Given the description of an element on the screen output the (x, y) to click on. 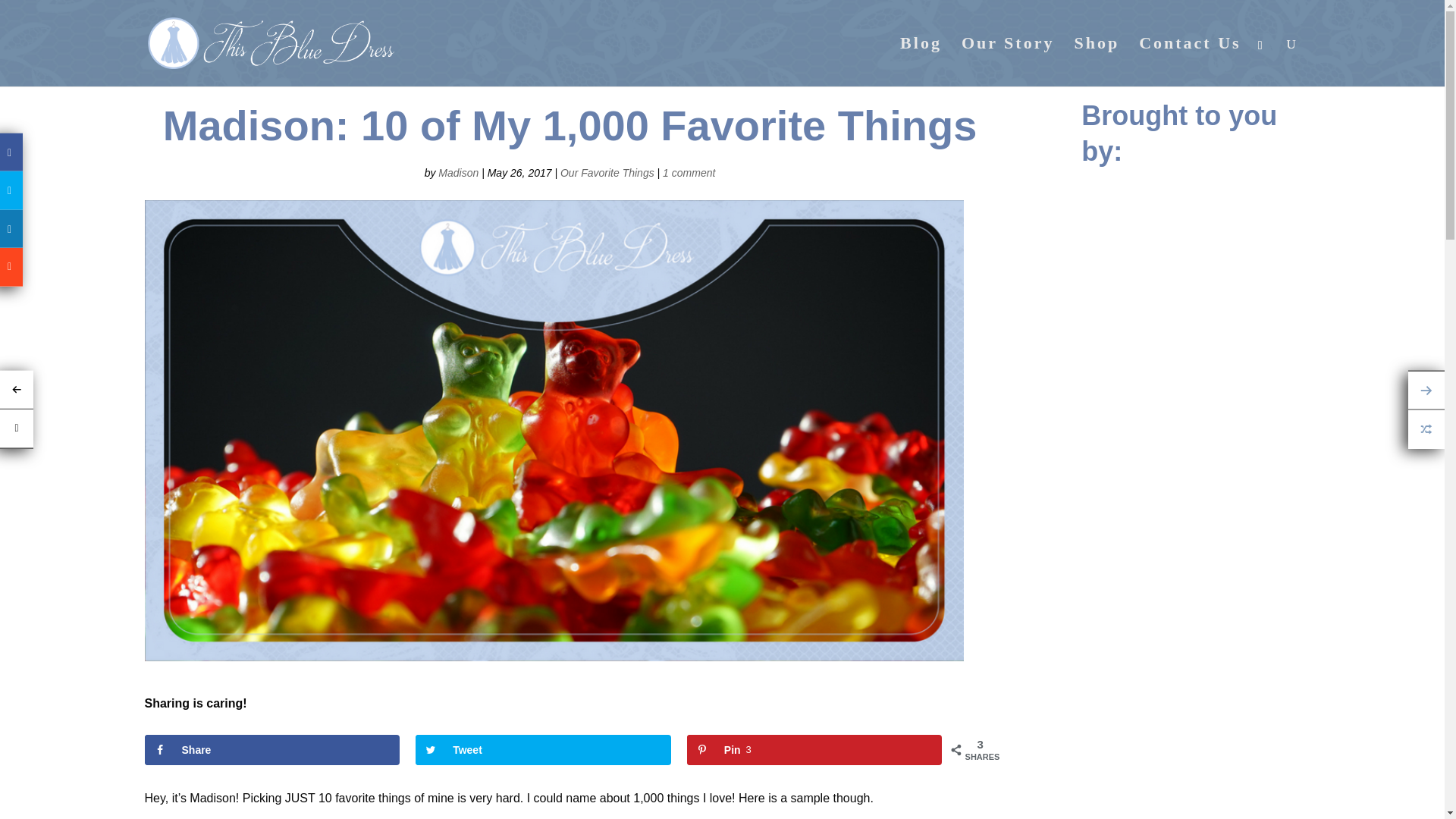
Contact Us (1189, 61)
Our Story (1007, 61)
Our Favorite Things (606, 173)
Share (271, 749)
Posts by Madison (458, 173)
Share on Twitter (542, 749)
Tweet (542, 749)
Save to Pinterest (814, 749)
Madison (814, 749)
